Given the description of an element on the screen output the (x, y) to click on. 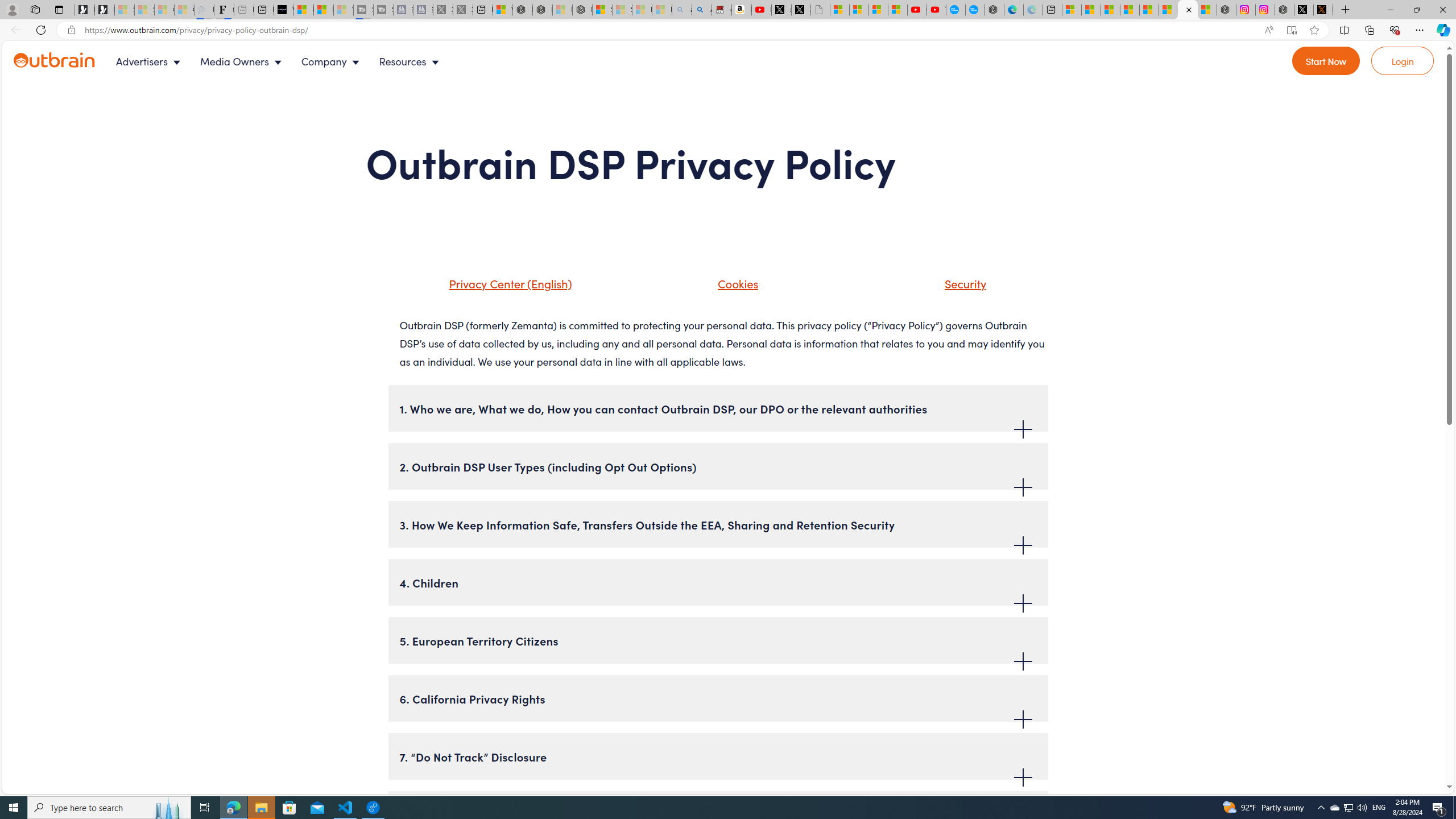
Outbrain logo - link to homepage (54, 59)
4. Children (717, 582)
6. California Privacy Rights (717, 697)
